Given the description of an element on the screen output the (x, y) to click on. 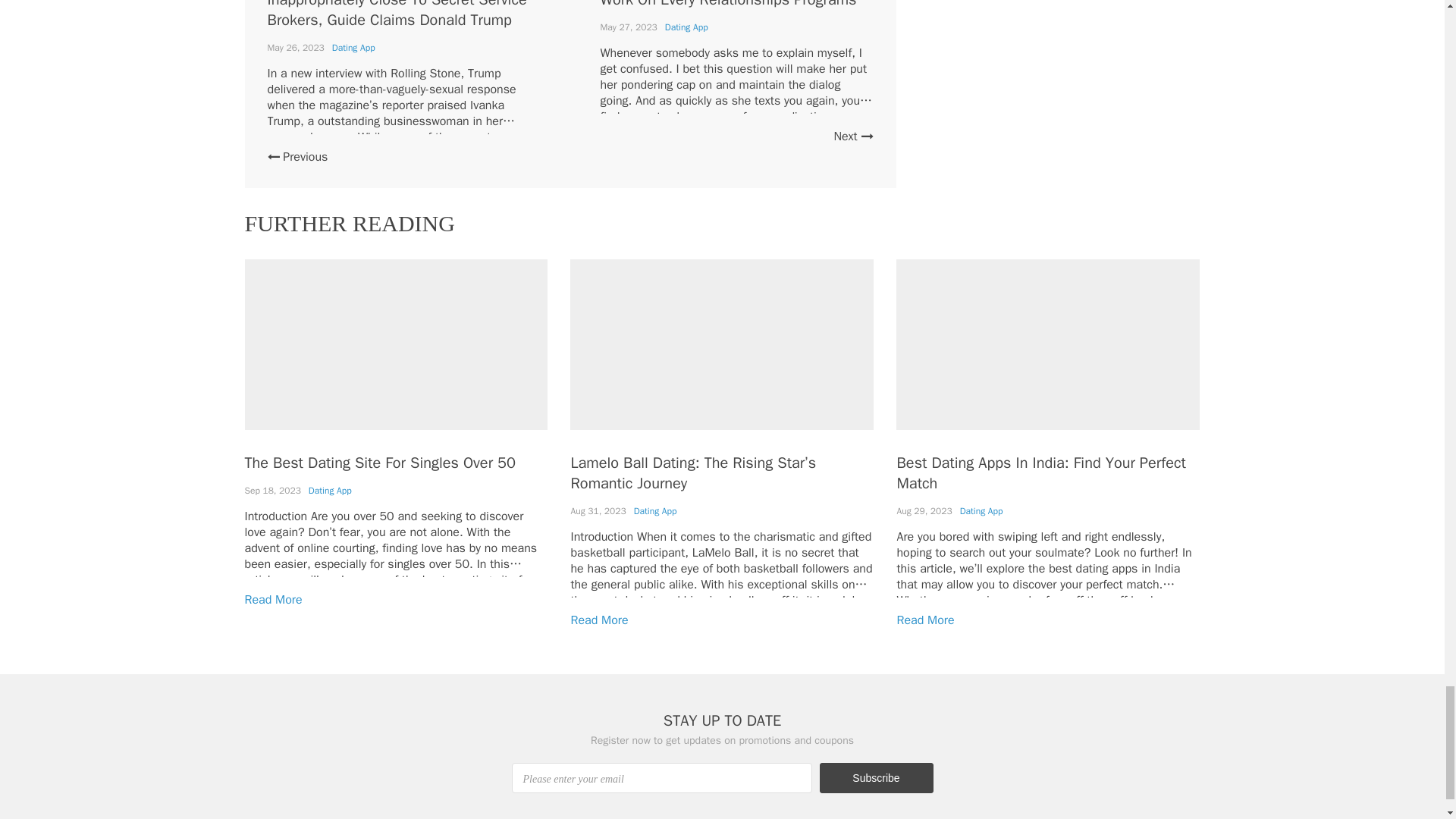
Subscribe (875, 777)
